Given the description of an element on the screen output the (x, y) to click on. 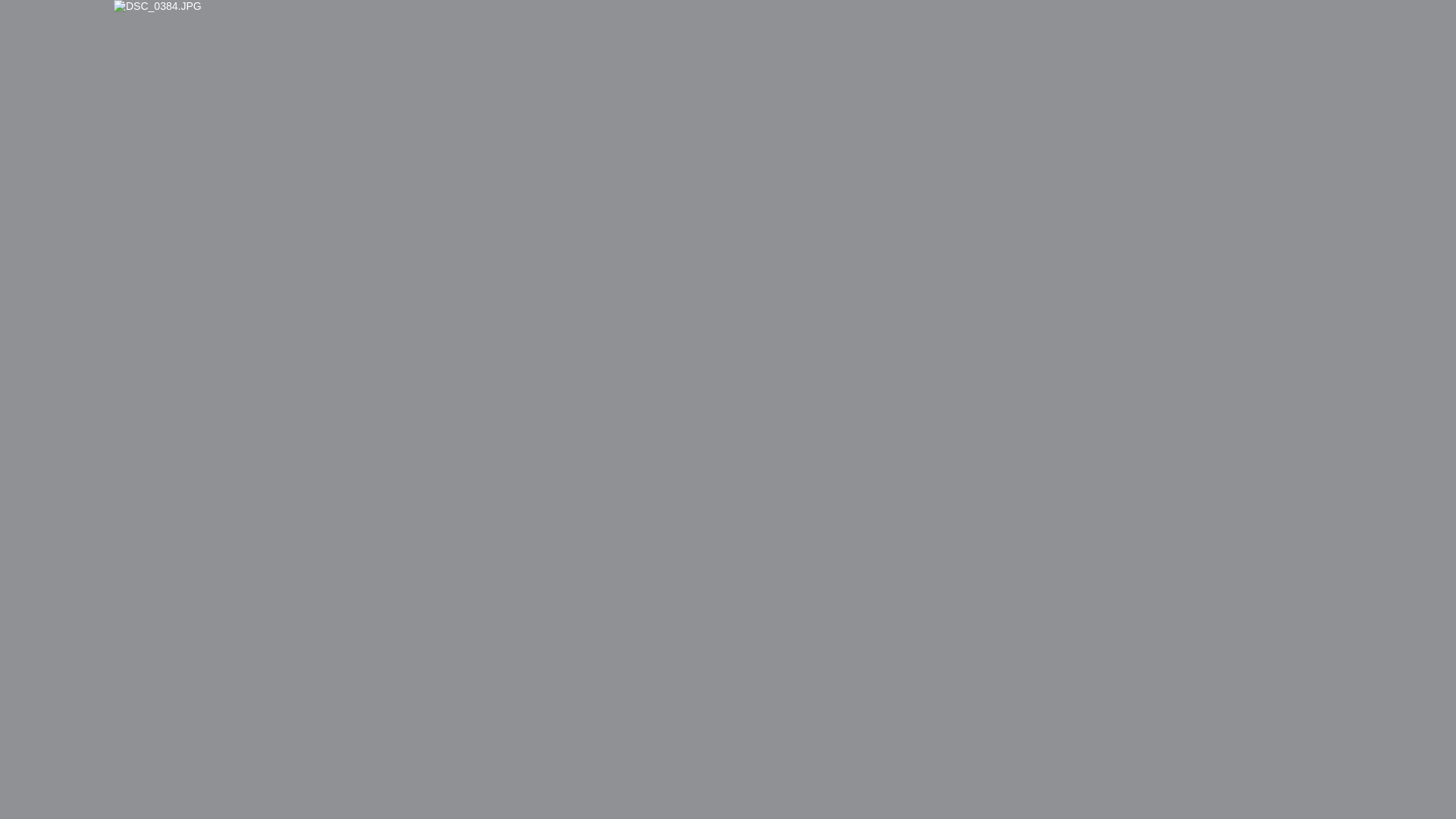
Slideshow Element type: hover (1255, 486)
2021 Photos Element type: text (1058, 91)
Search Running Event Element type: text (1307, 91)
Share Gallery Element type: hover (1218, 486)
Download All Element type: hover (1292, 486)
SmugMug Element type: hover (59, 22)
Browse Years Element type: text (1166, 91)
2021 Element type: text (66, 159)
BUY PHOTOS Element type: text (1378, 486)
Search "2021 Finlayson Arm 28k/50/100k - Day 2" for photos Element type: hover (1380, 22)
Home Element type: text (978, 91)
